Given the description of an element on the screen output the (x, y) to click on. 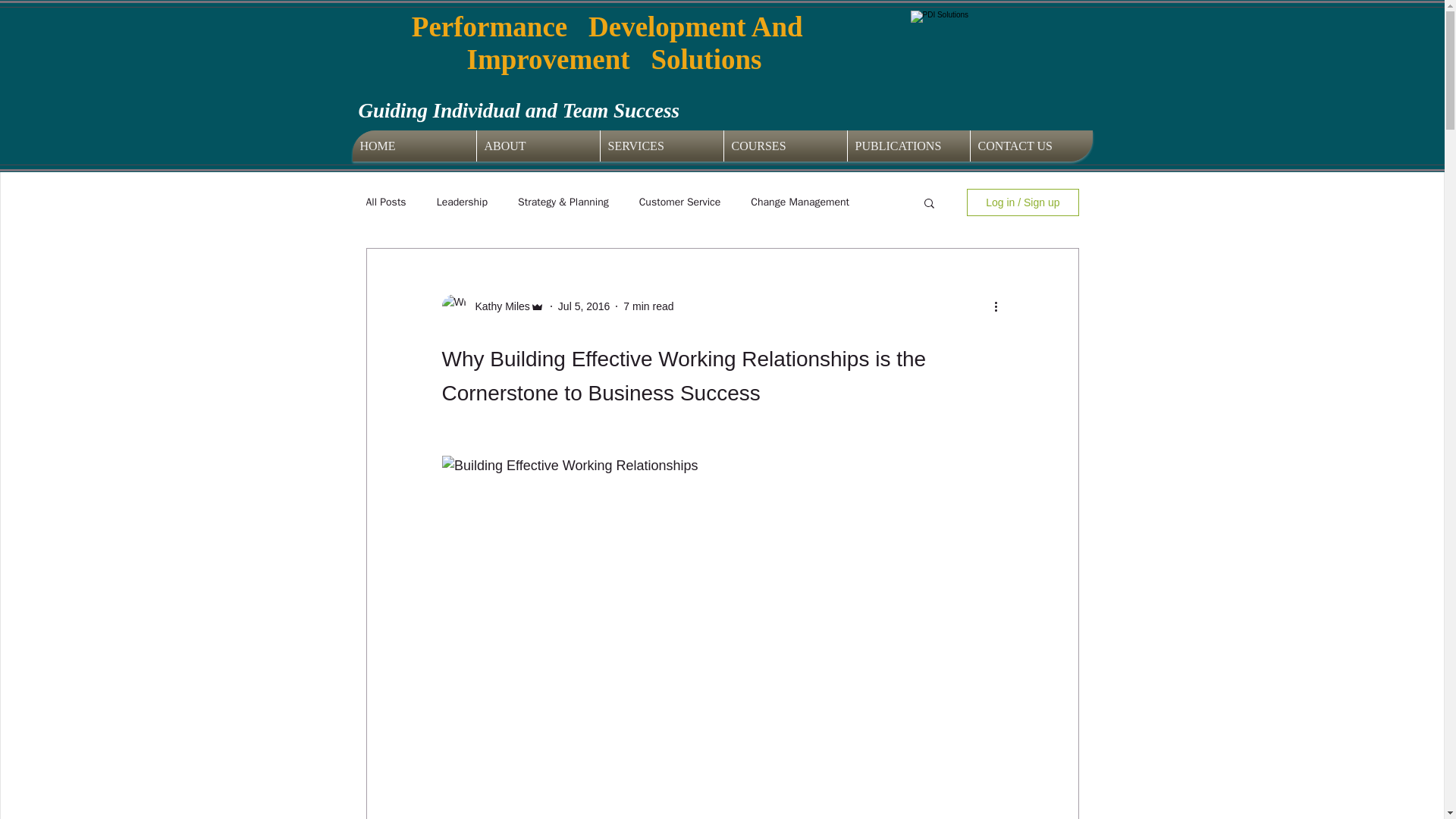
All Posts (385, 202)
CONTACT US (1032, 145)
Leadership (461, 202)
HOME (414, 145)
7 min read (647, 306)
Change Management (799, 202)
ABOUT (537, 145)
Jul 5, 2016 (583, 306)
PDI Solutions (979, 63)
SERVICES (661, 145)
Kathy Miles (497, 306)
Customer Service (679, 202)
